Given the description of an element on the screen output the (x, y) to click on. 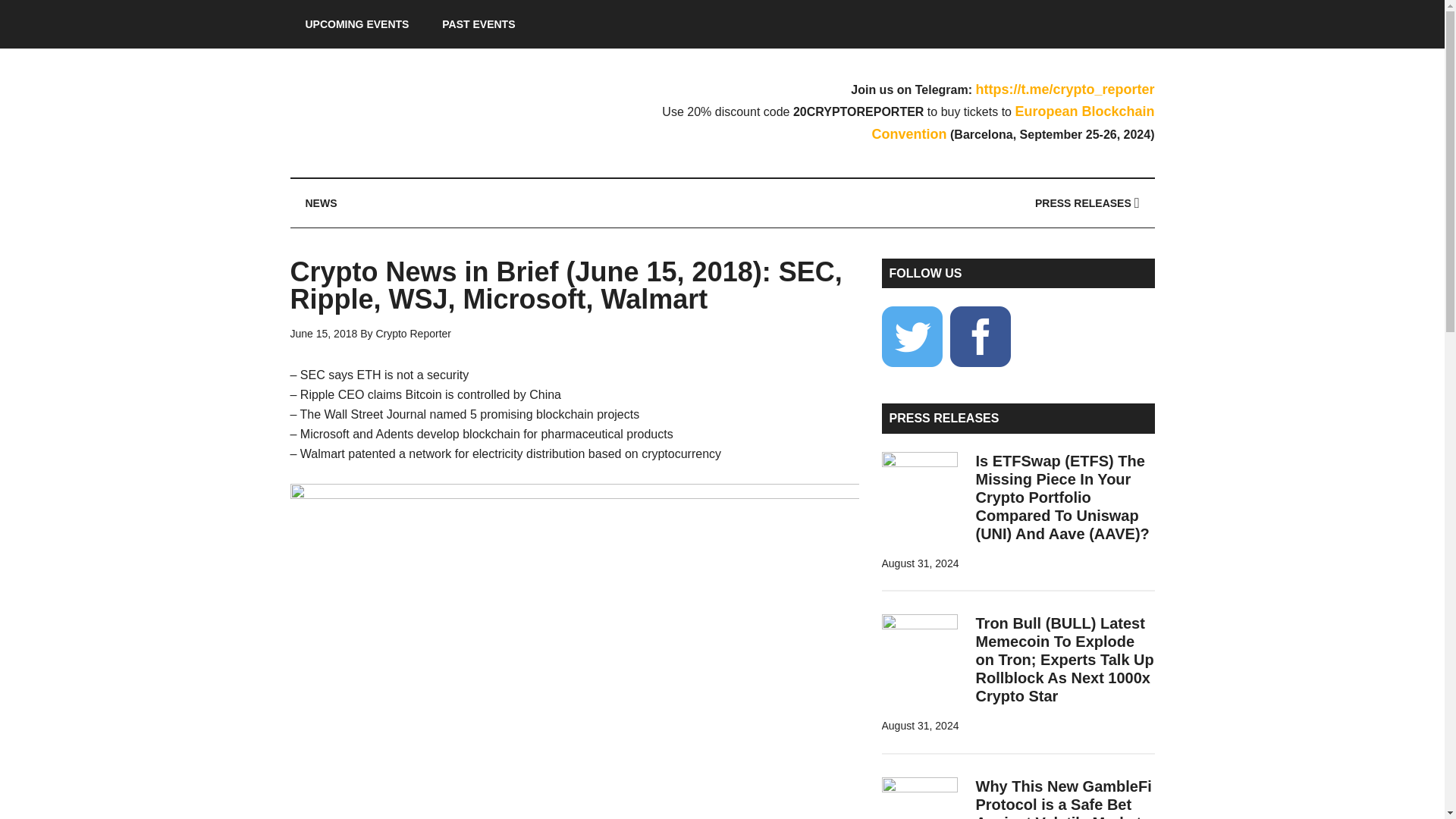
NEWS (320, 203)
PAST EVENTS (477, 24)
UPCOMING EVENTS (356, 24)
European Blockchain Convention (1013, 122)
Crypto Reporter (433, 112)
